Given the description of an element on the screen output the (x, y) to click on. 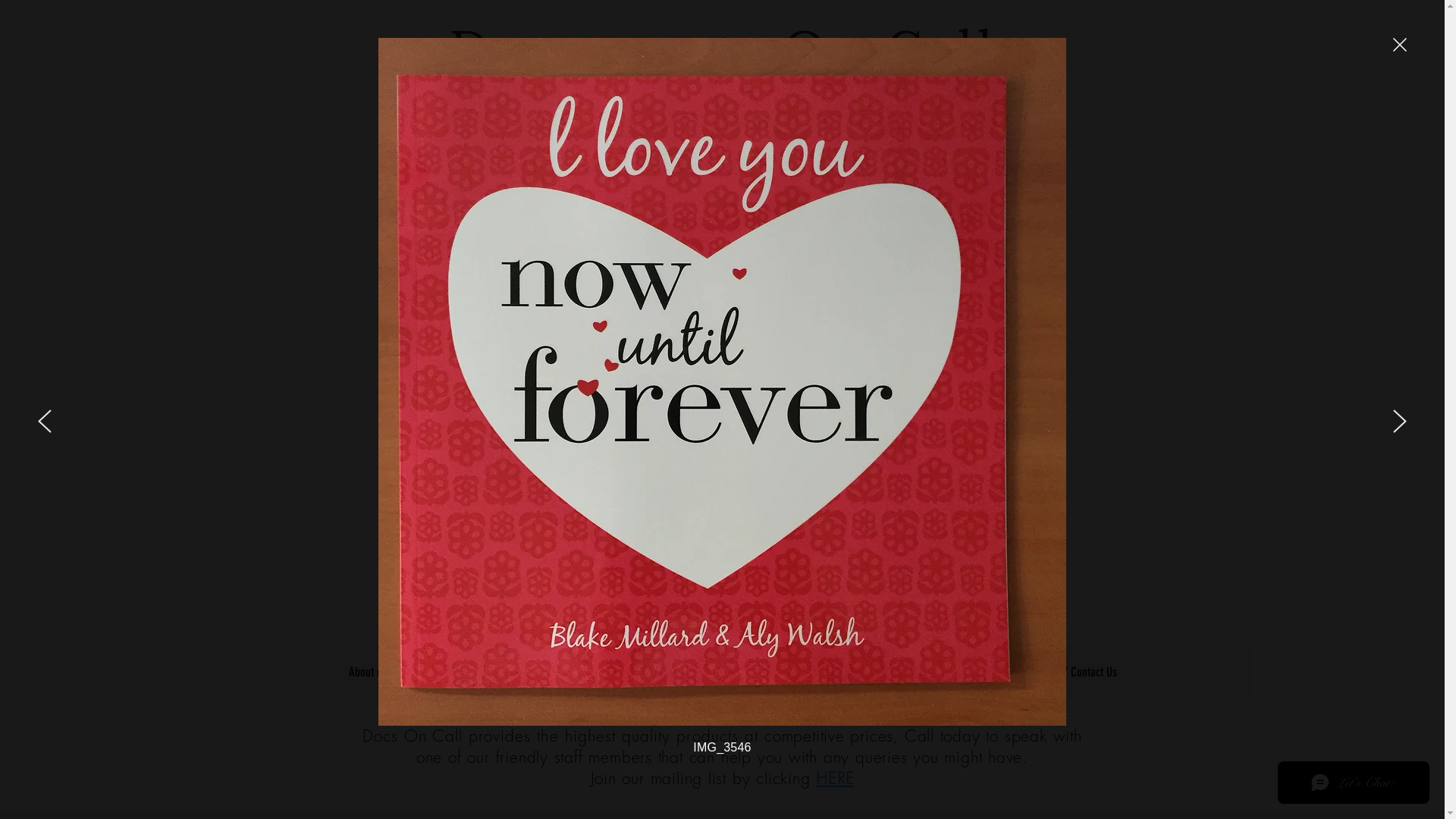
What's New? Element type: text (721, 670)
About us Element type: text (368, 670)
Quote / Contact Us Element type: text (1075, 670)
(03) 9687 7555 Element type: text (850, 124)
HERE Element type: text (834, 777)
Request a quote Element type: text (571, 125)
Documents On Call Element type: text (722, 49)
